Given the description of an element on the screen output the (x, y) to click on. 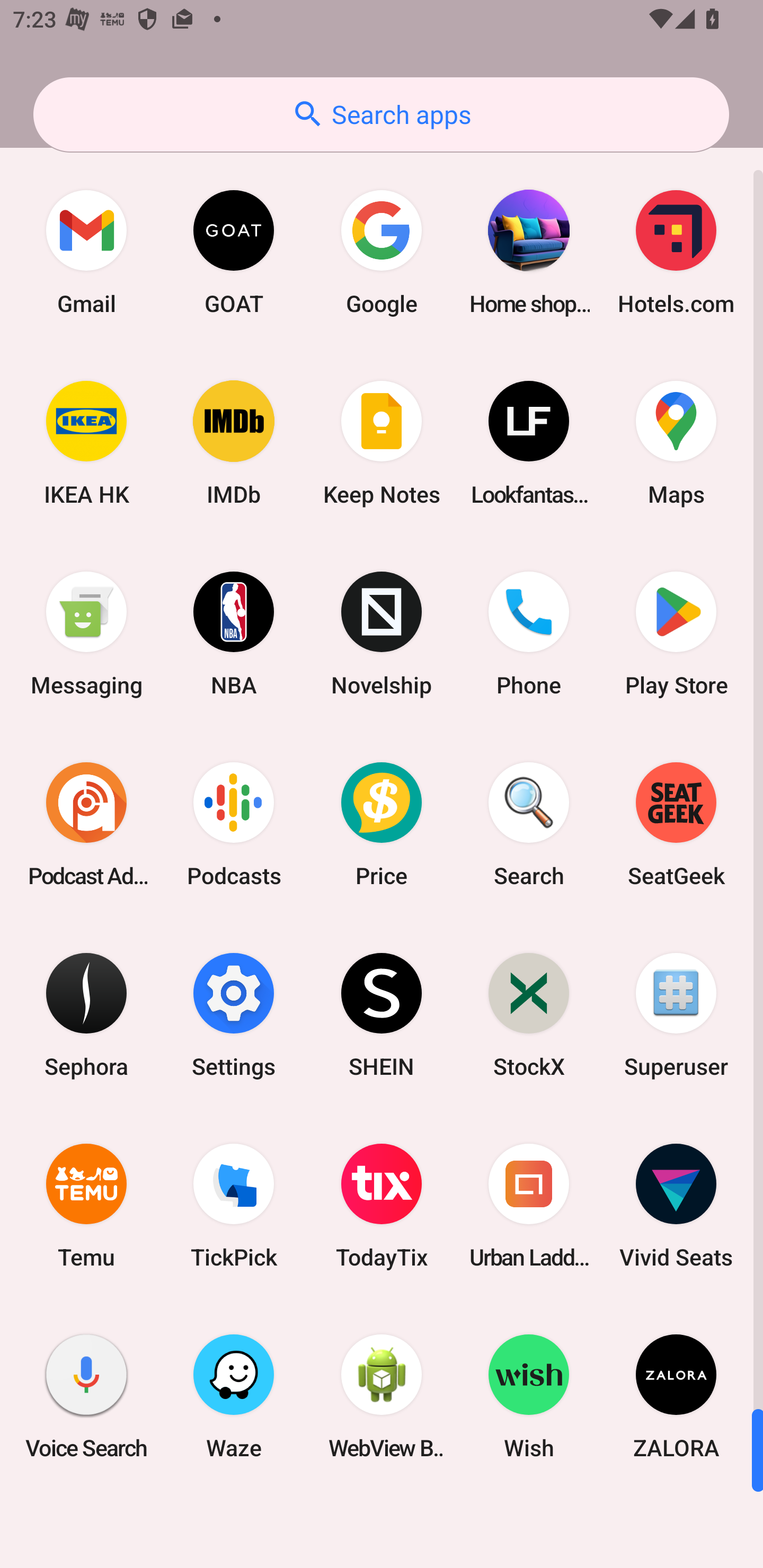
  Search apps (381, 114)
Gmail (86, 252)
GOAT (233, 252)
Google (381, 252)
Home shopping (528, 252)
Hotels.com (676, 252)
IKEA HK (86, 442)
IMDb (233, 442)
Keep Notes (381, 442)
Lookfantastic (528, 442)
Maps (676, 442)
Messaging (86, 633)
NBA (233, 633)
Novelship (381, 633)
Phone (528, 633)
Play Store (676, 633)
Podcast Addict (86, 823)
Podcasts (233, 823)
Price (381, 823)
Search (528, 823)
SeatGeek (676, 823)
Sephora (86, 1014)
Settings (233, 1014)
SHEIN (381, 1014)
StockX (528, 1014)
Superuser (676, 1014)
Temu (86, 1205)
TickPick (233, 1205)
TodayTix (381, 1205)
Urban Ladder (528, 1205)
Vivid Seats (676, 1205)
Voice Search (86, 1396)
Waze (233, 1396)
WebView Browser Tester (381, 1396)
Wish (528, 1396)
ZALORA (676, 1396)
